Given the description of an element on the screen output the (x, y) to click on. 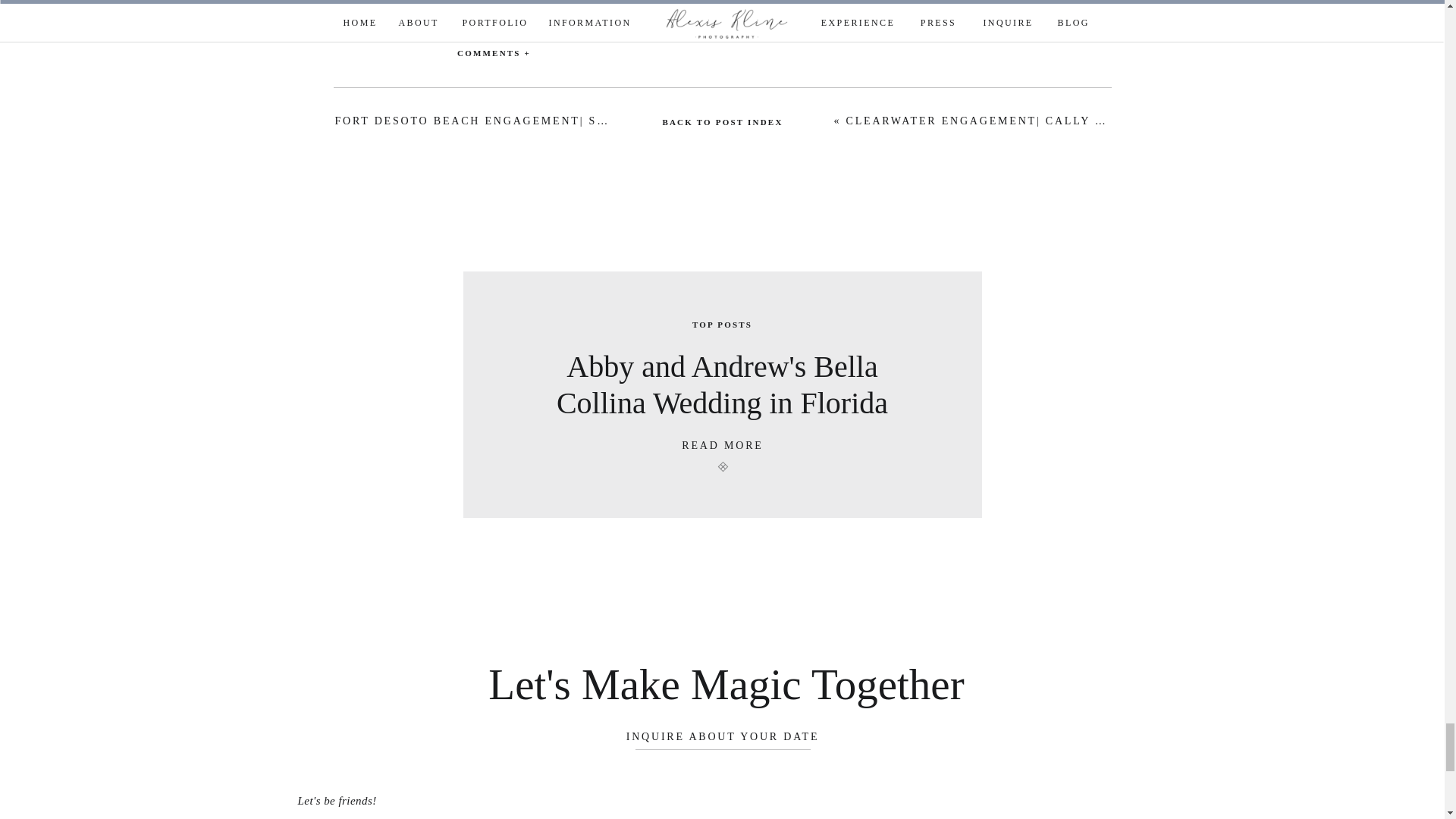
INQUIRE ABOUT YOUR DATE (722, 738)
READ MORE (723, 446)
